Given the description of an element on the screen output the (x, y) to click on. 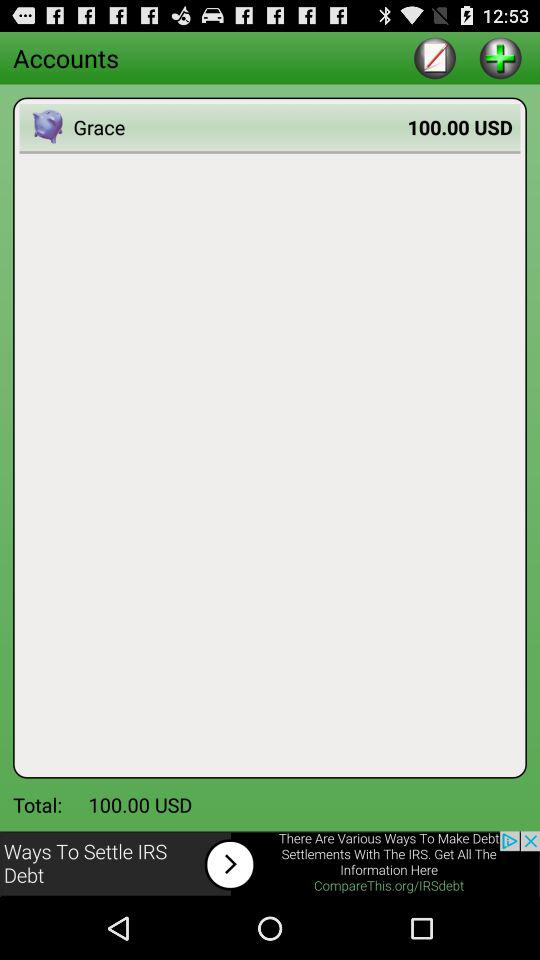
write option (434, 57)
